Given the description of an element on the screen output the (x, y) to click on. 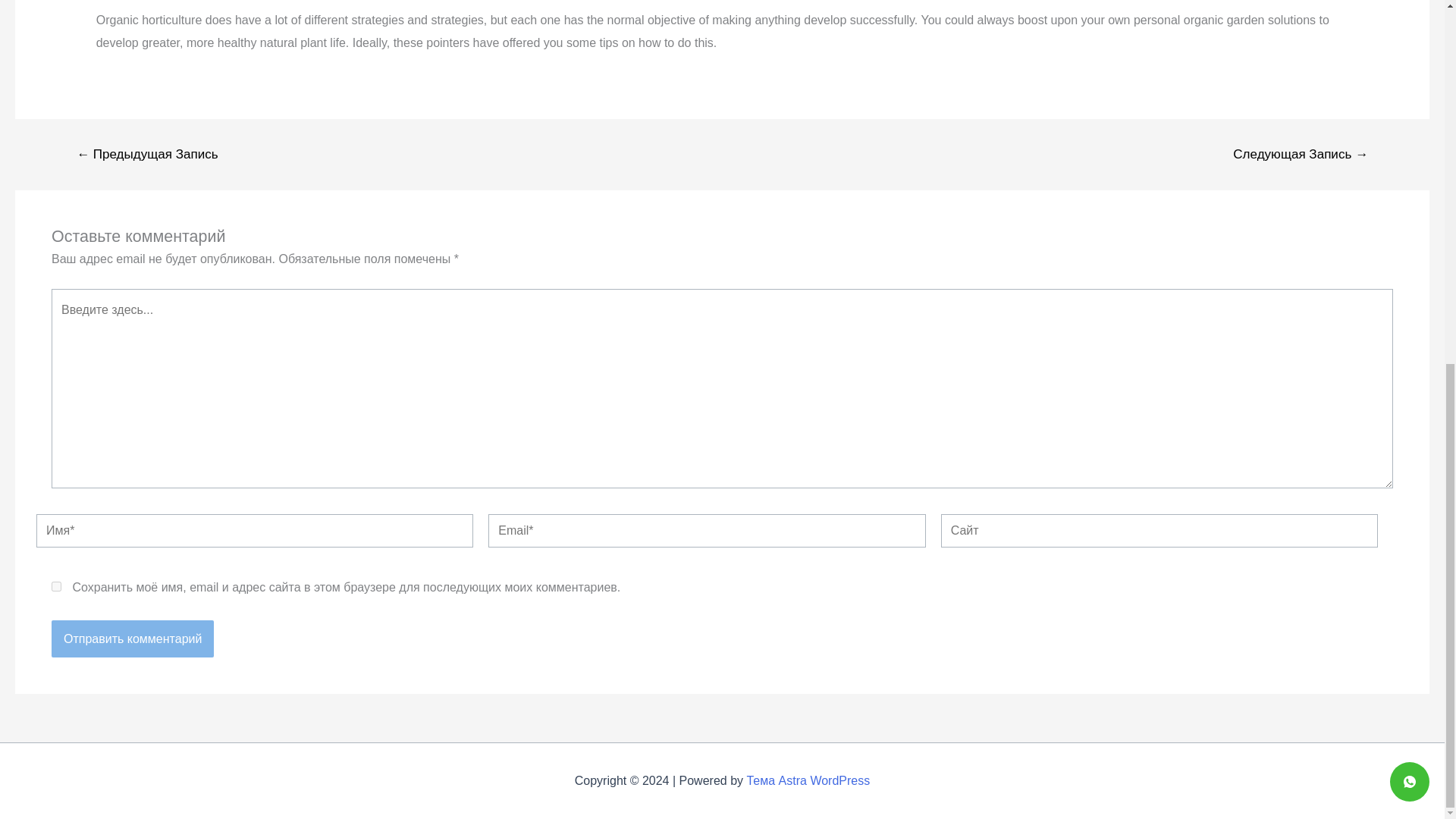
yes (55, 586)
